Given the description of an element on the screen output the (x, y) to click on. 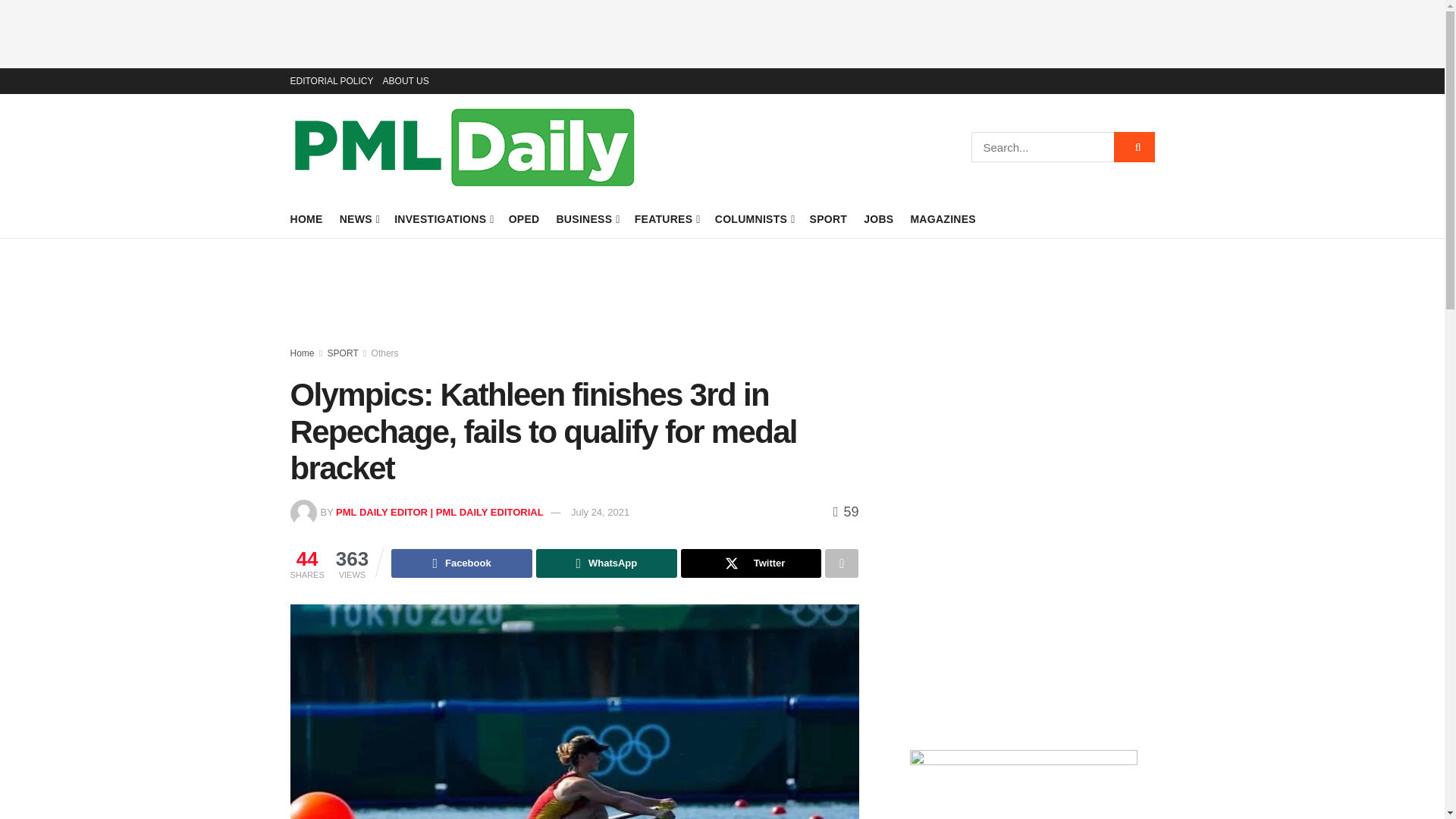
SPORT (828, 219)
OPED (524, 219)
ABOUT US (405, 80)
FEATURES (666, 219)
BUSINESS (586, 219)
EDITORIAL POLICY (330, 80)
INVESTIGATIONS (443, 219)
NEWS (358, 219)
COLUMNISTS (753, 219)
JOBS (878, 219)
